Given the description of an element on the screen output the (x, y) to click on. 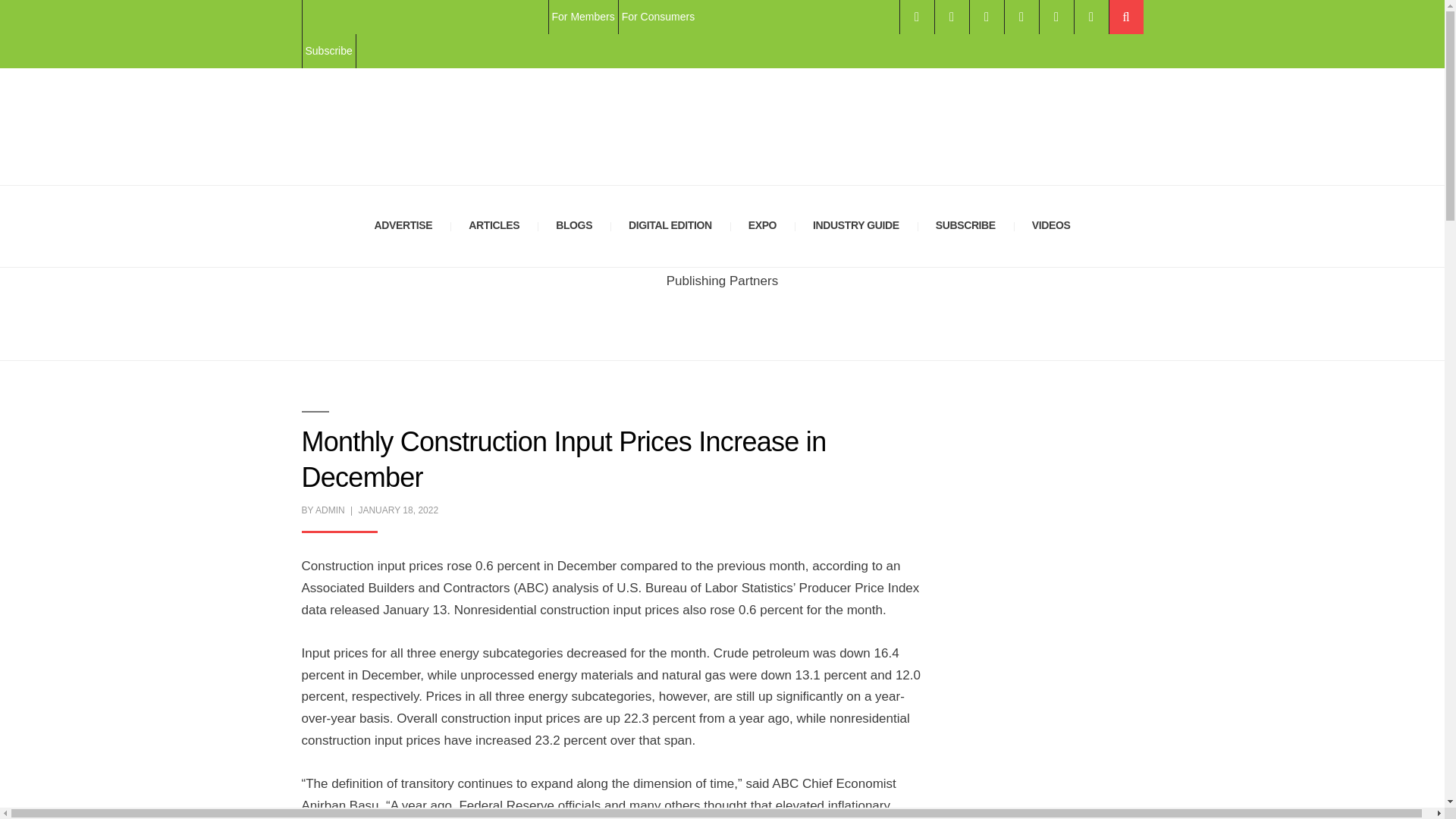
Search (1125, 17)
ADVERTISE (403, 226)
Search (1125, 17)
Pinterest (1091, 17)
Follow me on Facebook (916, 17)
LinkedIn (1021, 17)
ARTICLES (493, 226)
For Consumers (657, 17)
For Members (582, 17)
Follow me on Instagram (986, 17)
YouTube (1056, 17)
Follow me on Twitter (951, 17)
National Wood Flooring Association (424, 17)
Subscribe (328, 50)
